Given the description of an element on the screen output the (x, y) to click on. 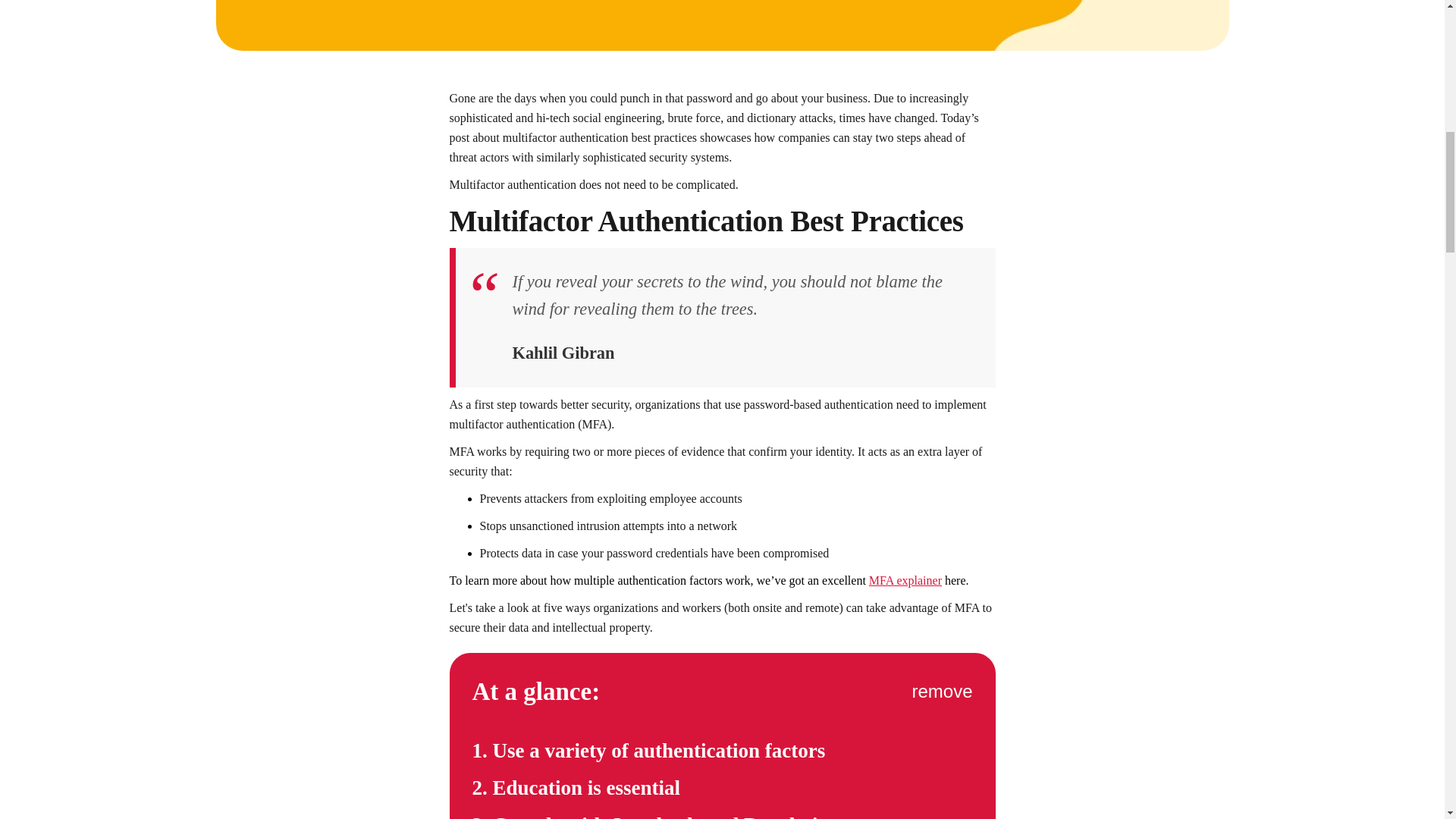
MFA explainer (905, 580)
1. Use a variety of authentication factors (721, 755)
2. Education is essential (721, 793)
3. Comply with Standards and Regulations (721, 815)
